Given the description of an element on the screen output the (x, y) to click on. 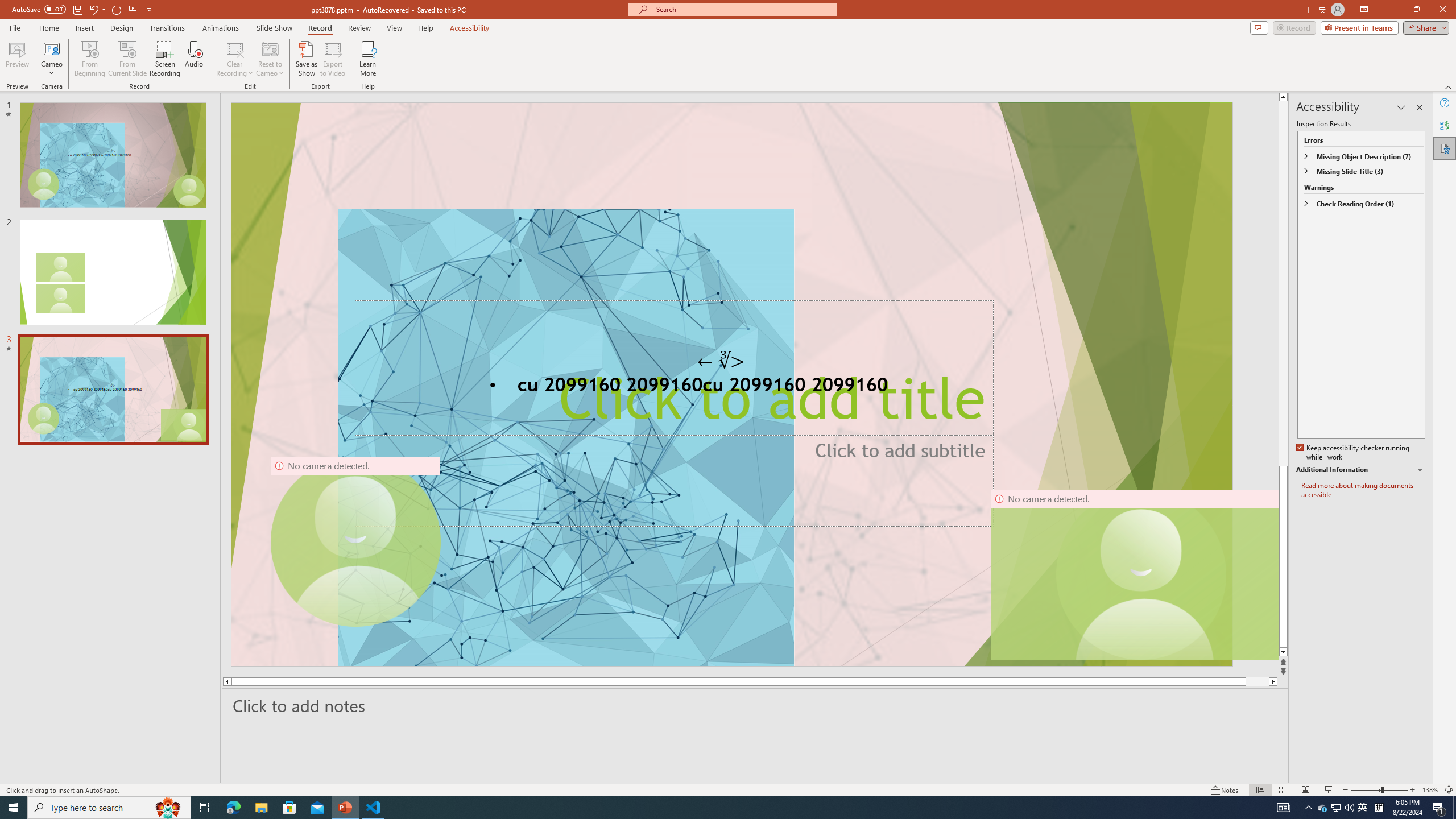
Reset to Cameo (269, 58)
Camera 11, No camera detected. (1141, 574)
